Given the description of an element on the screen output the (x, y) to click on. 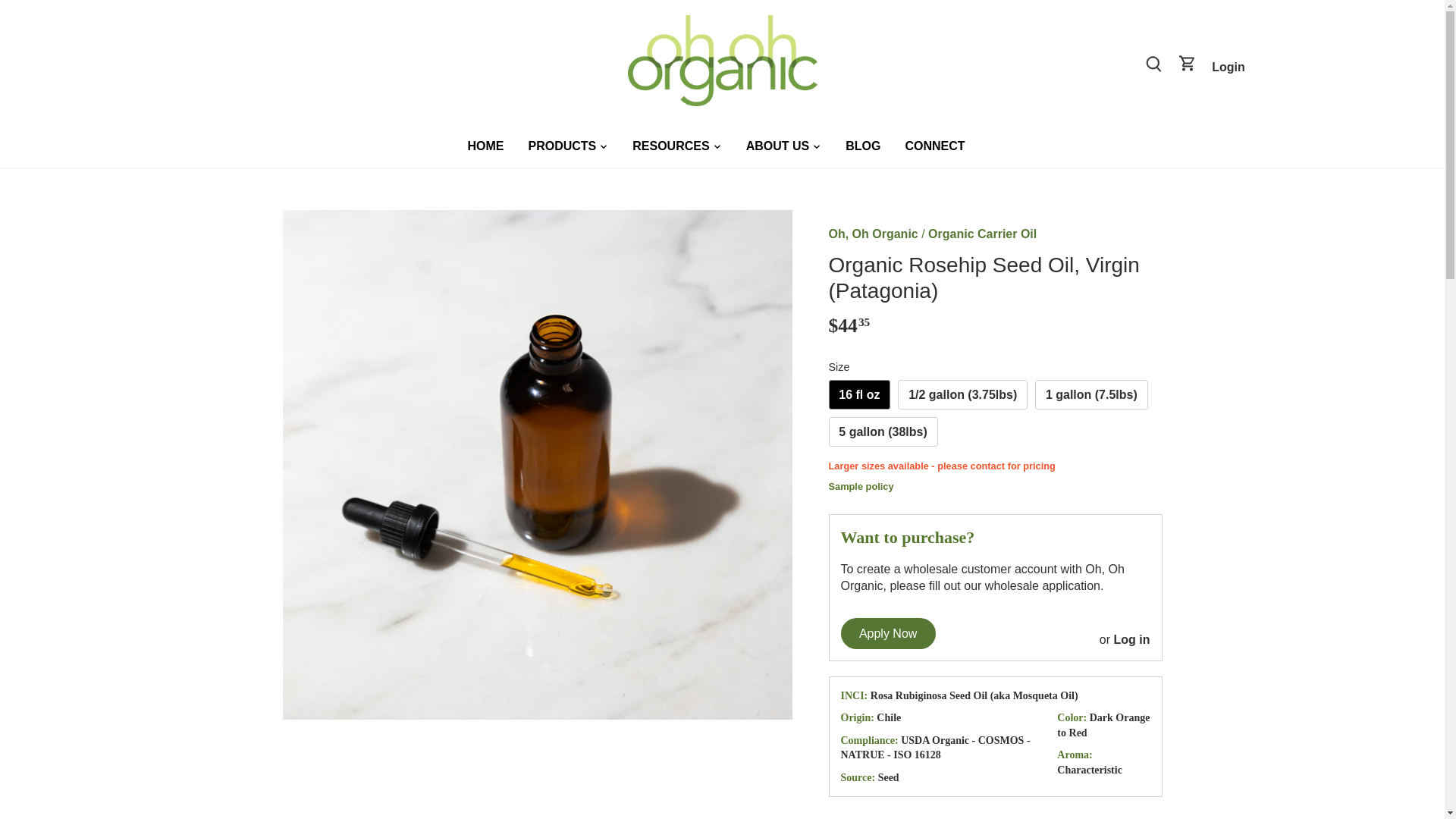
Larger sizes available - please contact for pricing (994, 466)
Login (1227, 66)
PRODUCTS (561, 147)
Oh, Oh Organic (872, 233)
Log in (1131, 639)
RESOURCES (670, 147)
ABOUT US (777, 147)
Apply Now (887, 633)
Sample policy (994, 486)
HOME (491, 147)
